Given the description of an element on the screen output the (x, y) to click on. 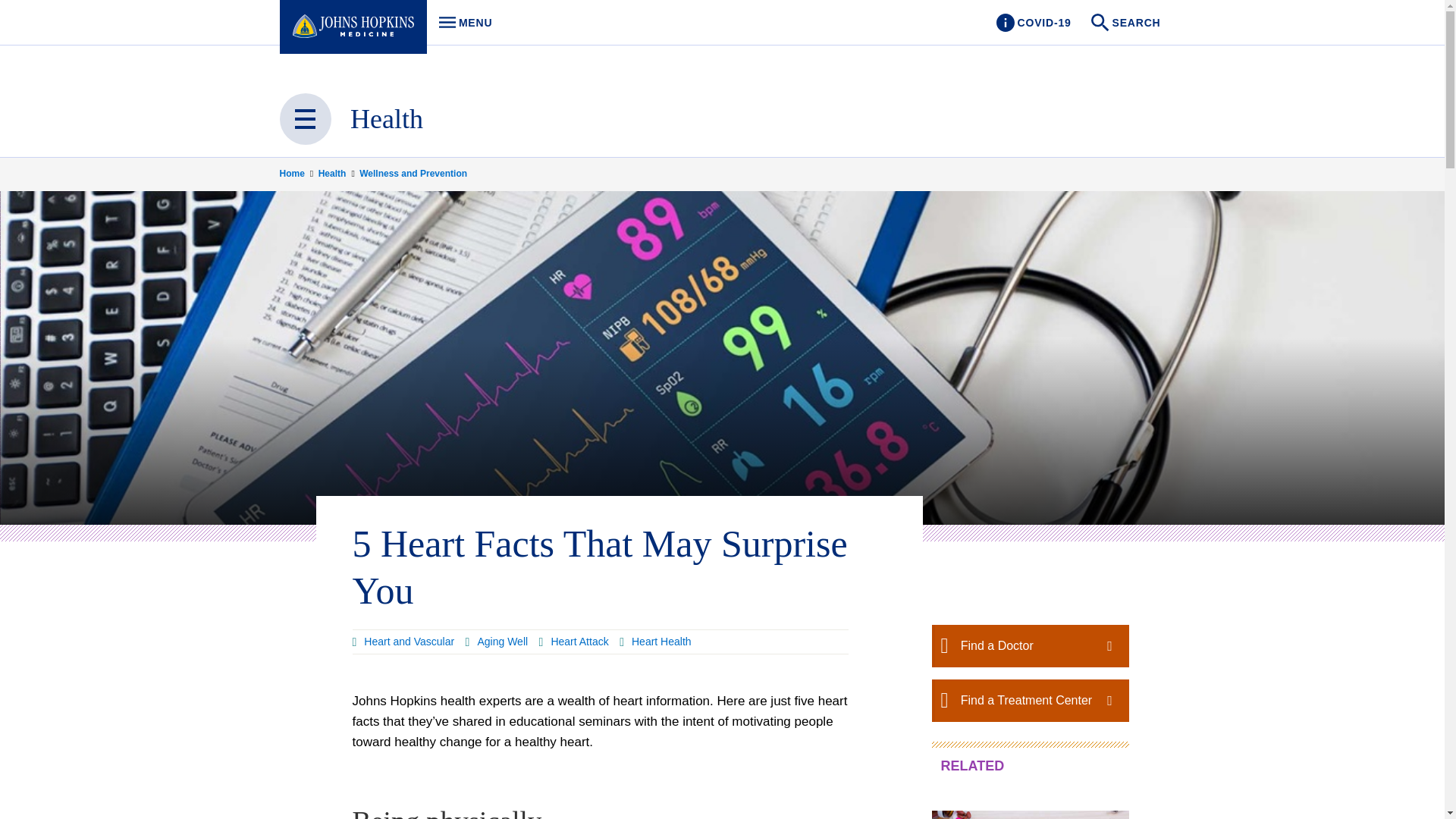
Home (296, 173)
Heart Health (655, 641)
Heart and Vascular (403, 641)
Health (386, 119)
SEARCH (1126, 22)
Wellness and Prevention (413, 173)
Close Main Menu (461, 22)
Heart Attack (304, 118)
Aging Well (573, 641)
Health (496, 641)
COVID-19 (337, 173)
